Given the description of an element on the screen output the (x, y) to click on. 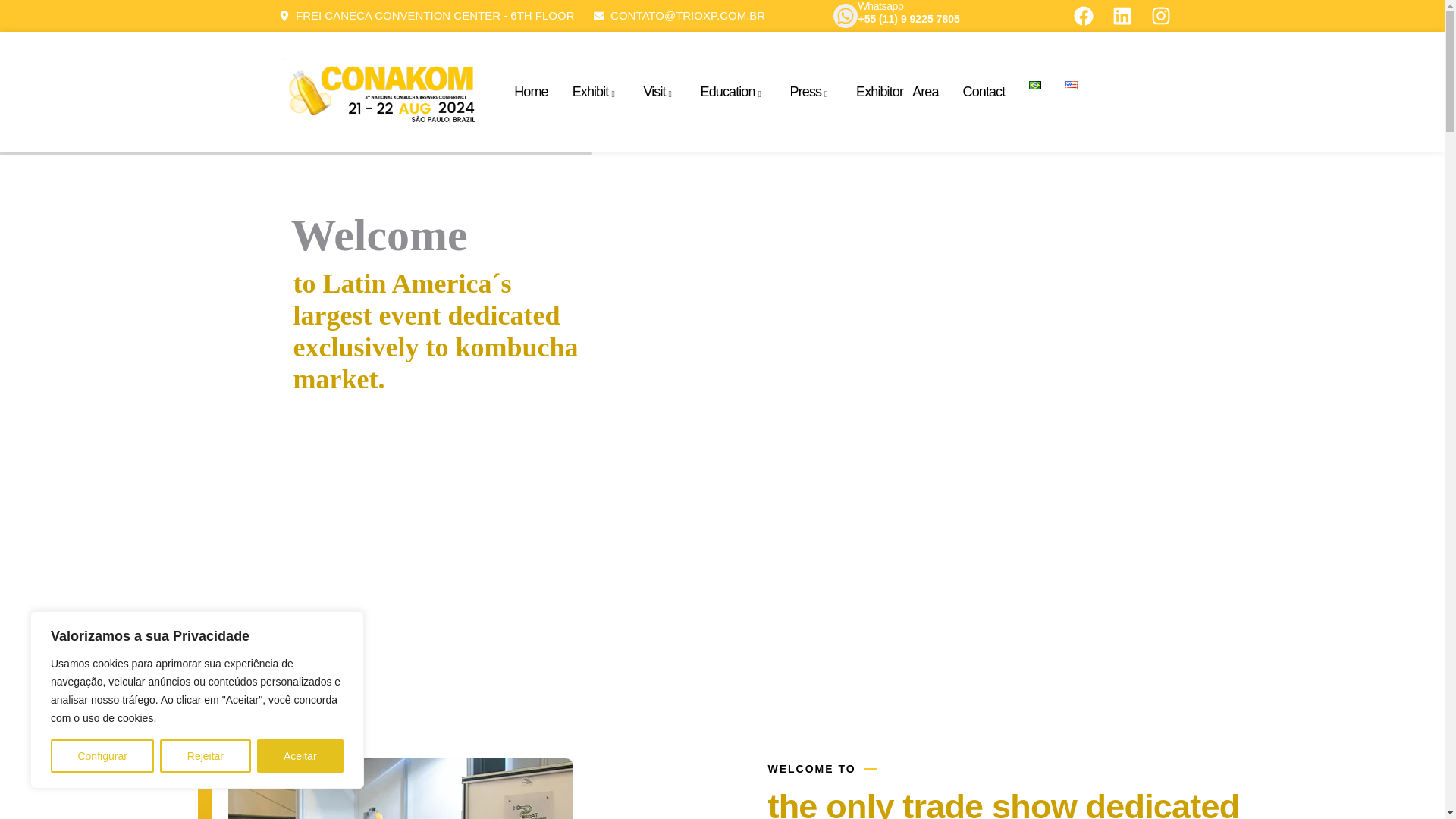
Whatsapp (879, 6)
Home (377, 91)
Exhibitor Area (896, 91)
Rejeitar (205, 756)
Aceitar (299, 756)
Configurar (102, 756)
Exhibit (596, 91)
Press (811, 91)
Education (732, 91)
